Given the description of an element on the screen output the (x, y) to click on. 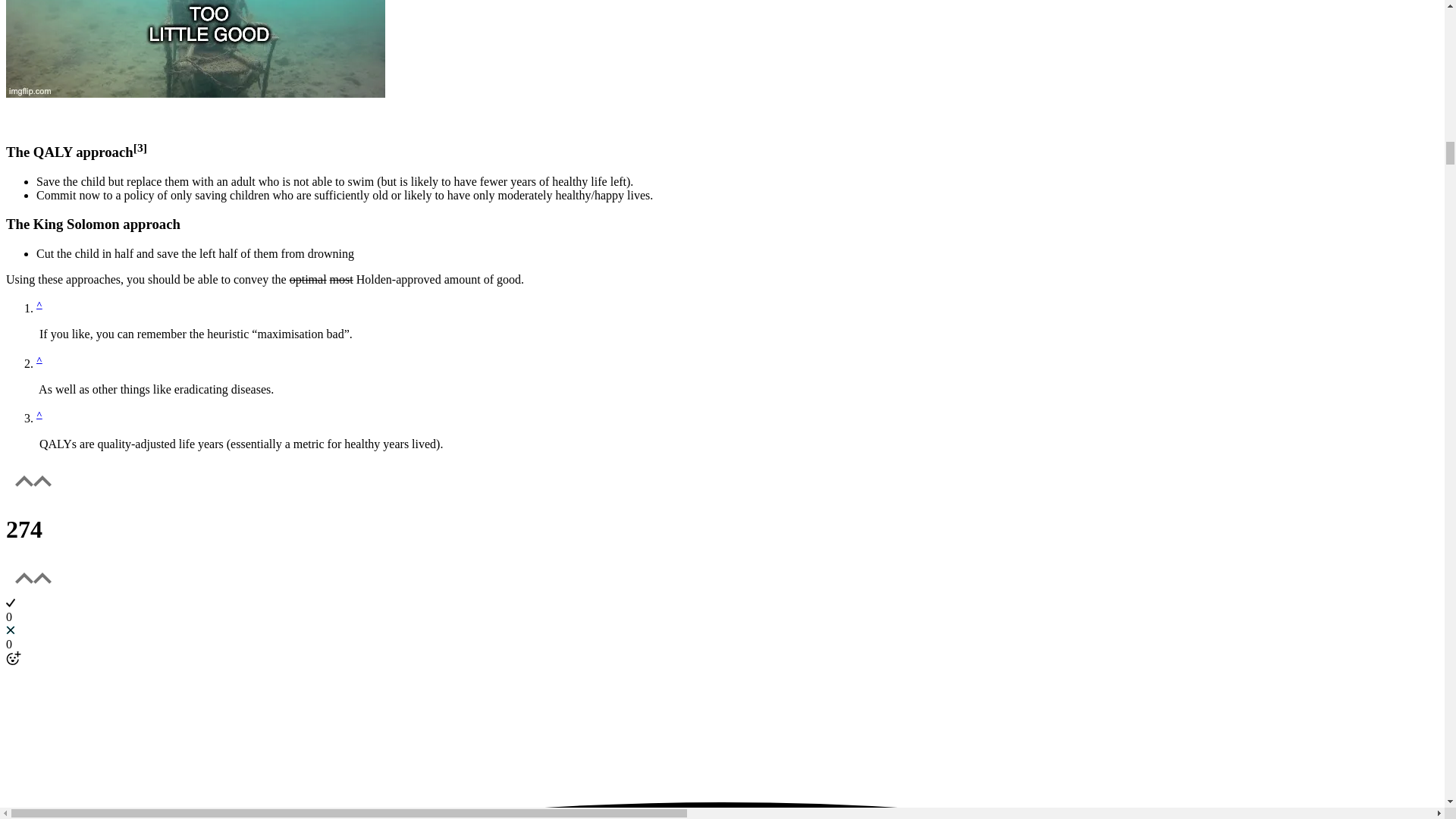
130 Votes (721, 529)
